Given the description of an element on the screen output the (x, y) to click on. 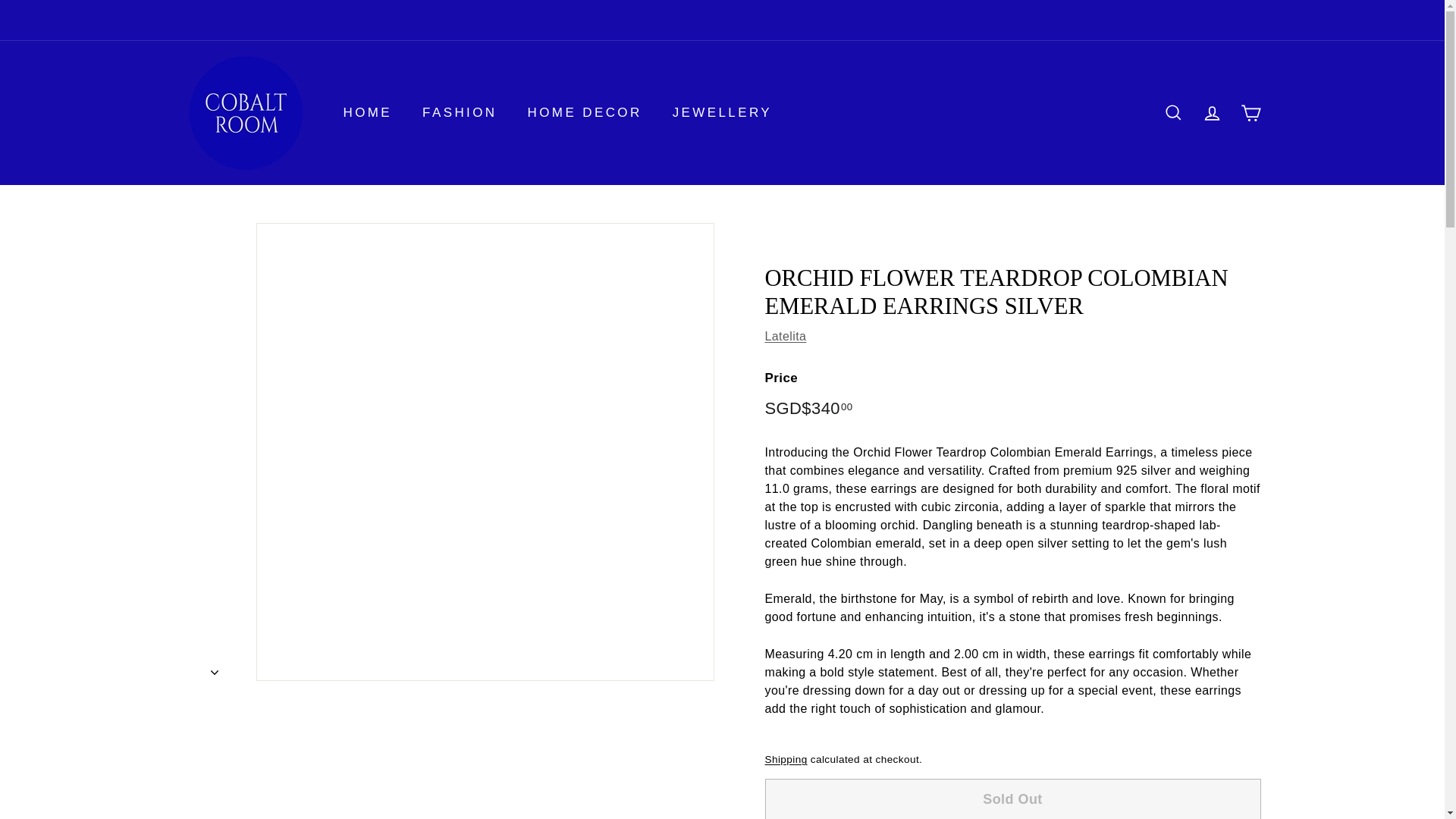
FASHION (459, 112)
JEWELLERY (722, 112)
HOME (367, 112)
HOME DECOR (585, 112)
Latelita (785, 336)
